Given the description of an element on the screen output the (x, y) to click on. 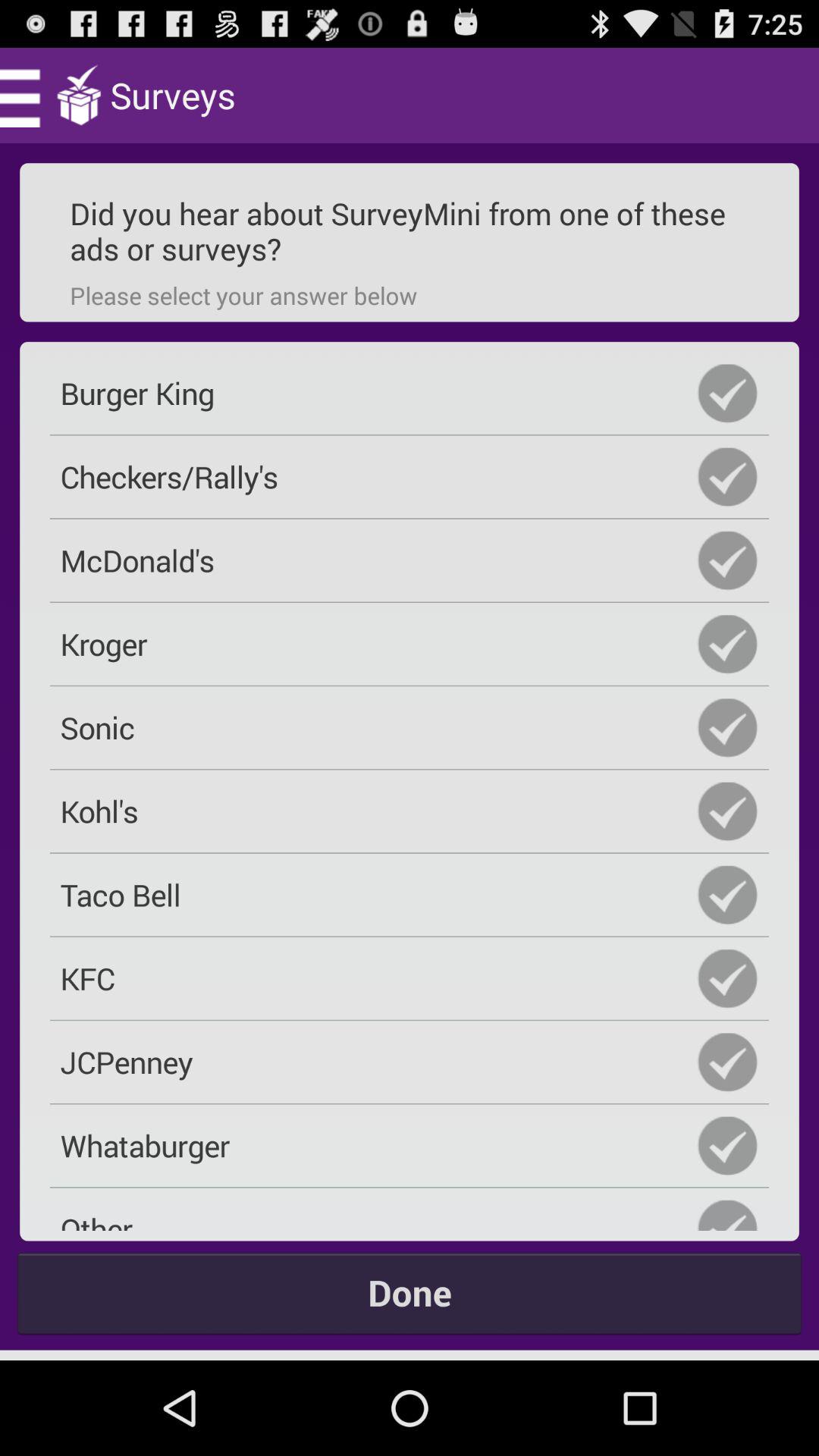
turn on the jcpenney (409, 1061)
